Given the description of an element on the screen output the (x, y) to click on. 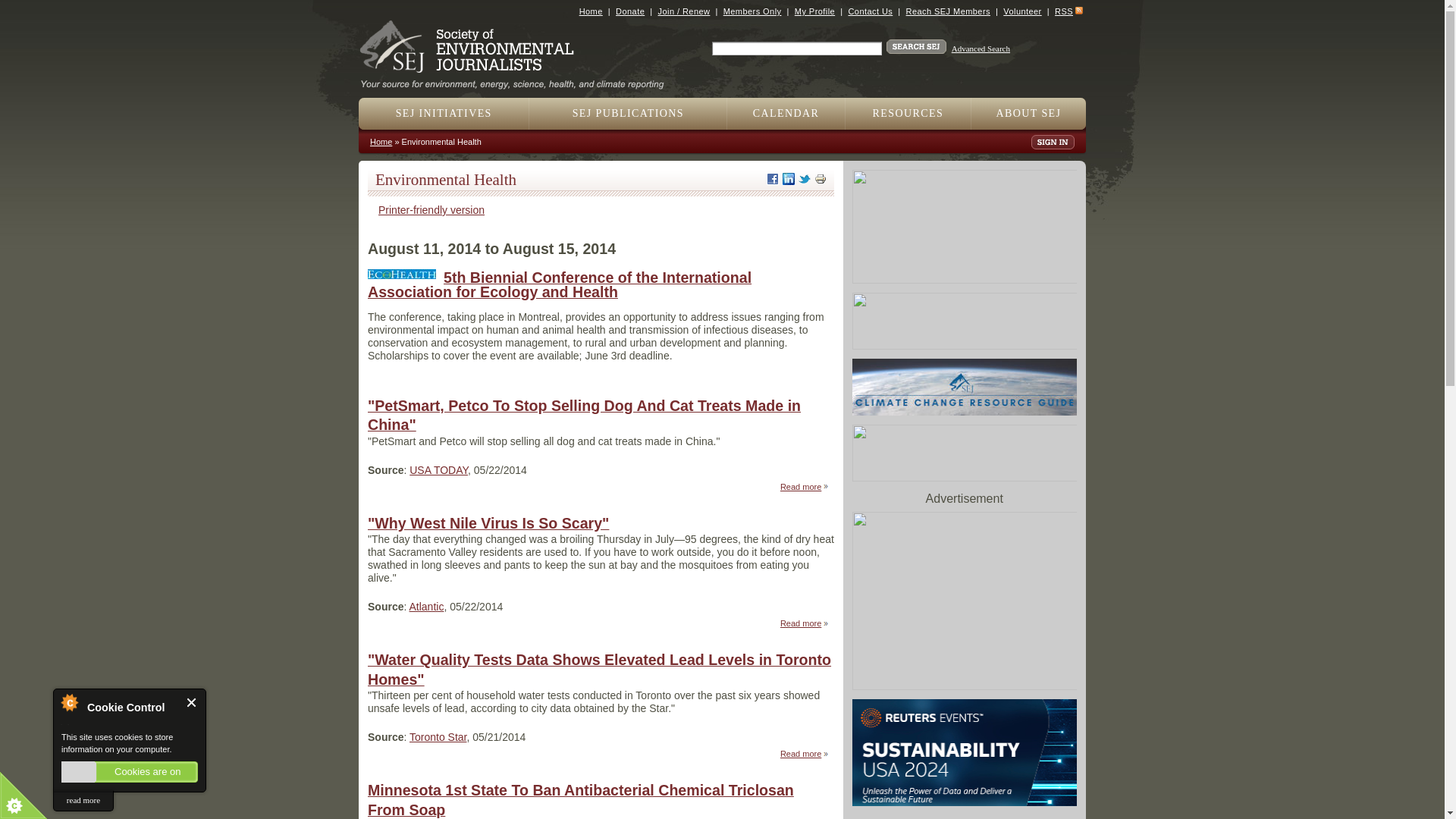
Reach SEJ Members (947, 10)
Volunteer (1022, 10)
Members Only (752, 10)
Cookies are on (129, 772)
Enter the terms you wish to search for. (796, 48)
Close (191, 702)
SEJ PUBLICATIONS (627, 113)
Home (590, 10)
Contact Us (869, 10)
Advanced Search (981, 48)
